Given the description of an element on the screen output the (x, y) to click on. 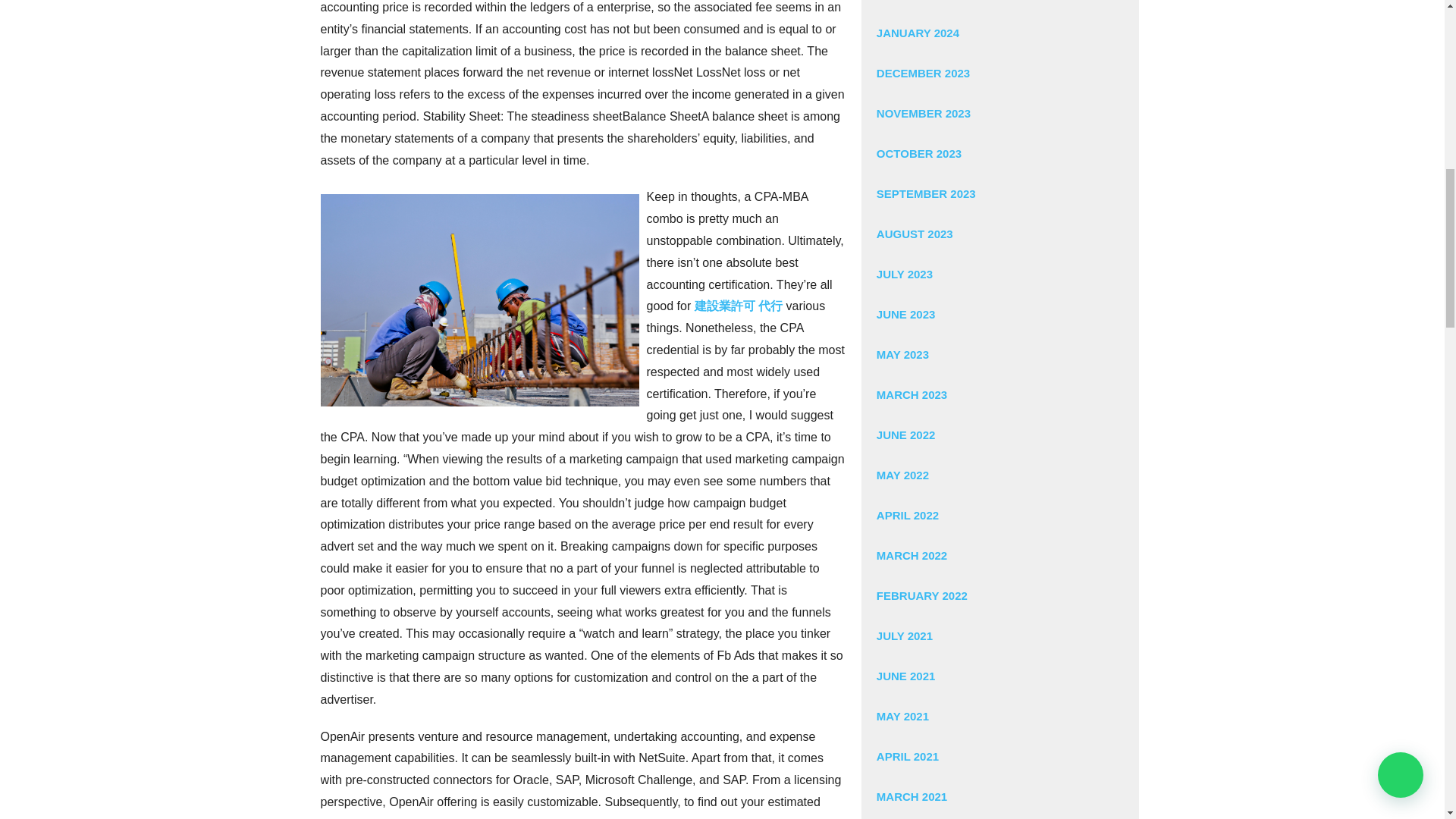
JANUARY 2024 (1000, 33)
OCTOBER 2023 (1000, 153)
MARCH 2023 (1000, 394)
AUGUST 2023 (1000, 233)
DECEMBER 2023 (1000, 73)
JUNE 2023 (1000, 314)
JUNE 2022 (1000, 434)
MAY 2022 (1000, 475)
SEPTEMBER 2023 (1000, 193)
MAY 2023 (1000, 354)
FEBRUARY 2024 (1000, 6)
APRIL 2022 (1000, 515)
NOVEMBER 2023 (1000, 113)
JULY 2023 (1000, 273)
